Given the description of an element on the screen output the (x, y) to click on. 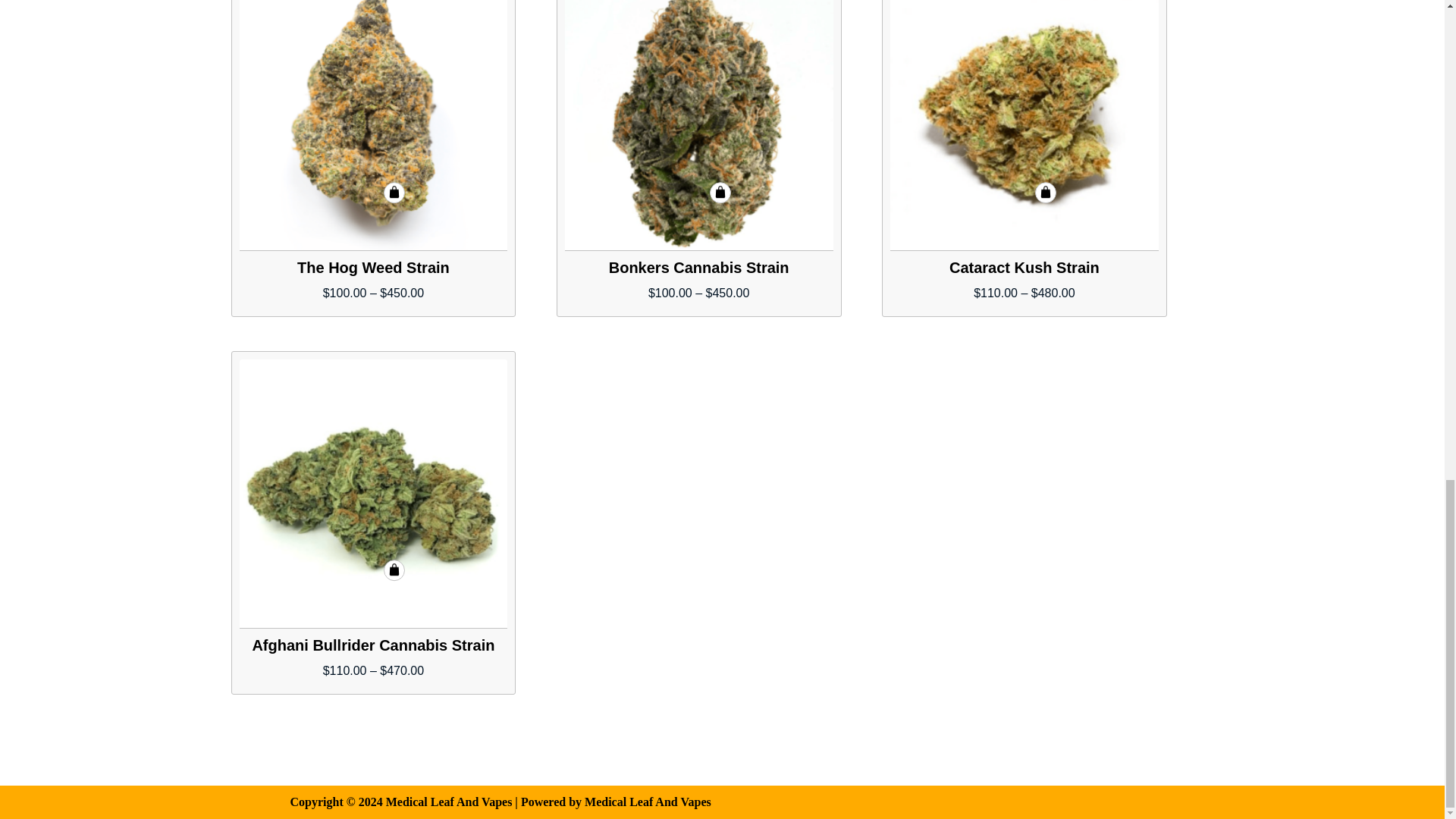
Afghani Bullrider Cannabis Strain (374, 493)
The Hog Weed Strain (374, 125)
Bonkers Cannabis Strain (698, 125)
Cataract Kush Strain (1023, 125)
